Given the description of an element on the screen output the (x, y) to click on. 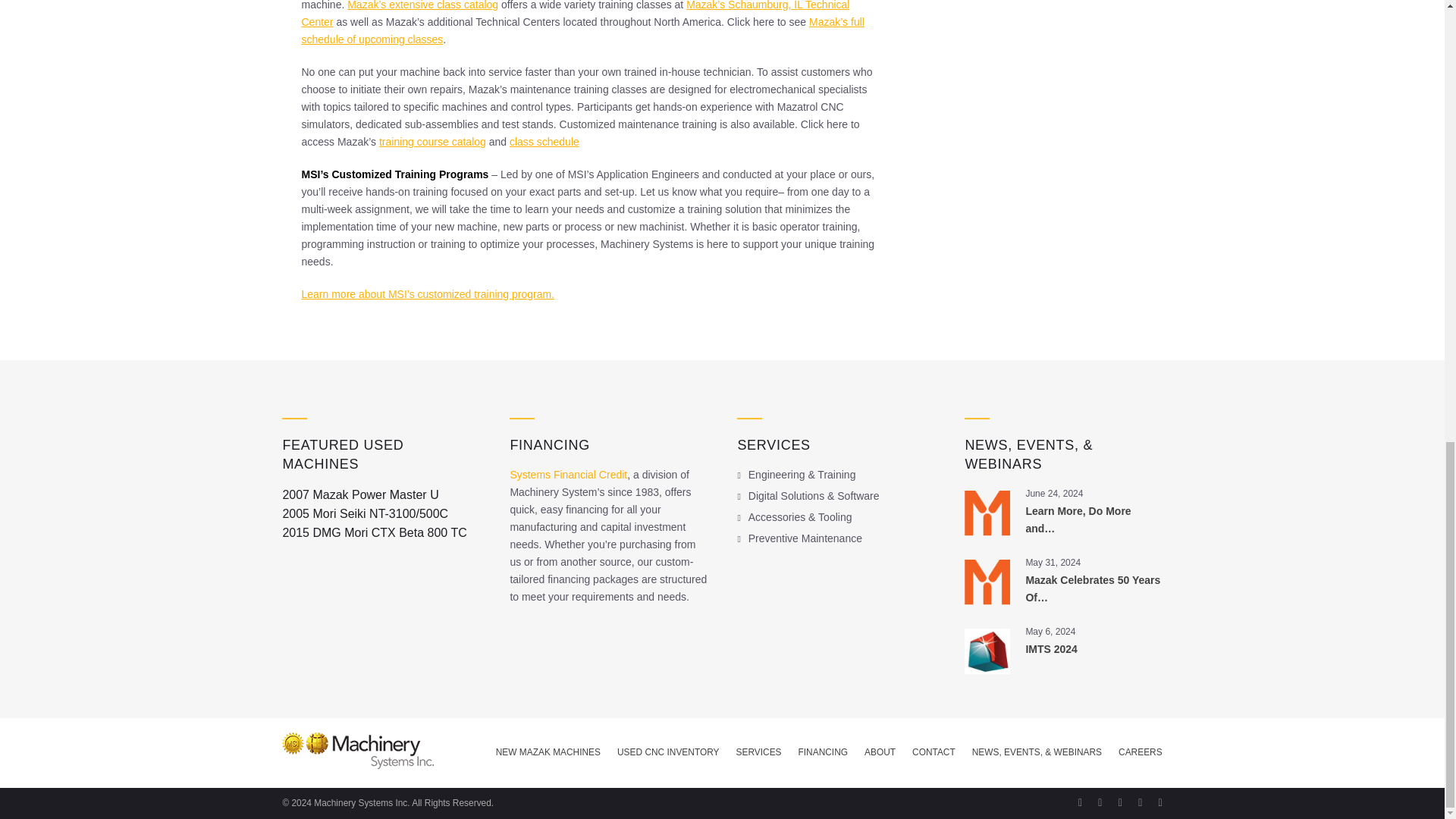
2015 DMG Mori CTX Beta 800 TC (373, 532)
Learn More, Do More and Make More with Mazak at IMTS 2024 (1078, 519)
IMTS 2024 (1051, 648)
2007 Mazak Power Master U (360, 494)
